Given the description of an element on the screen output the (x, y) to click on. 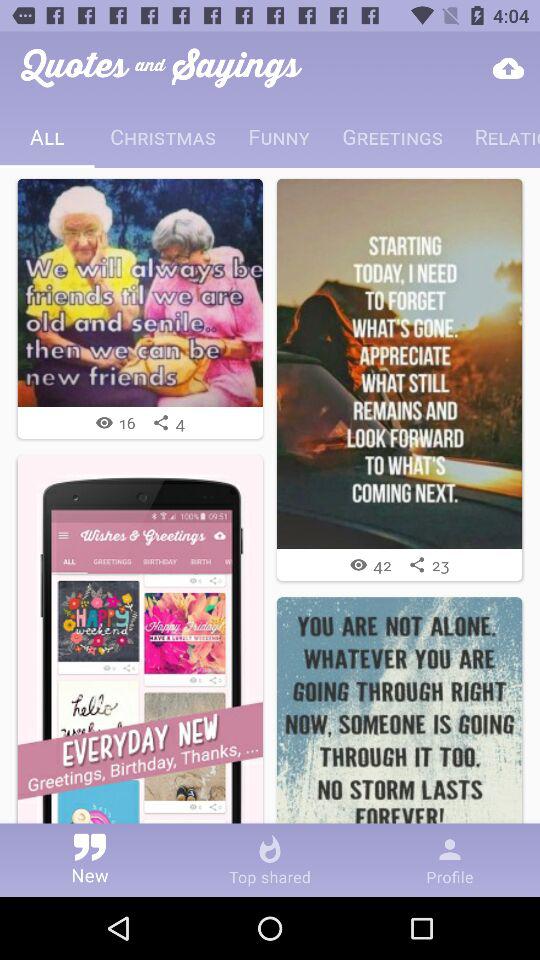
open post (139, 292)
